Given the description of an element on the screen output the (x, y) to click on. 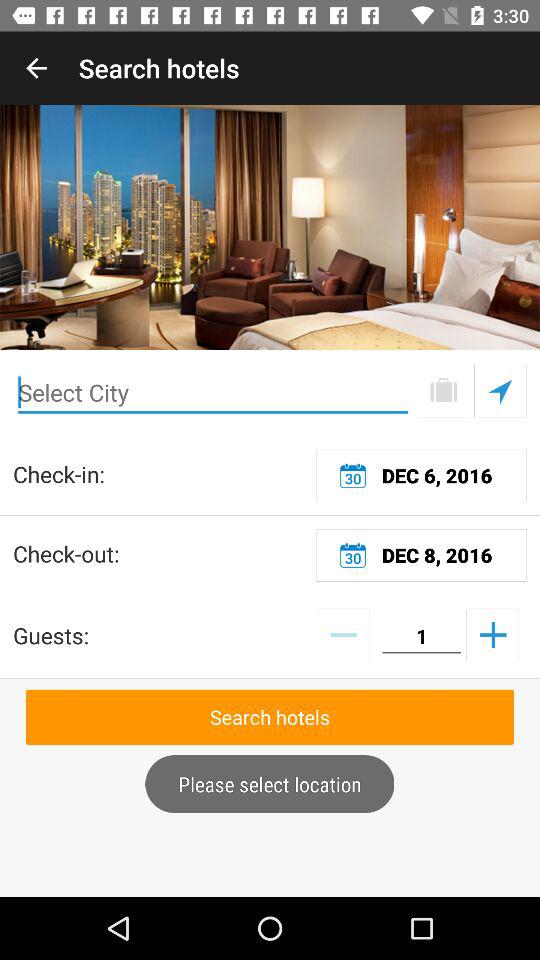
add number of guests (492, 634)
